Given the description of an element on the screen output the (x, y) to click on. 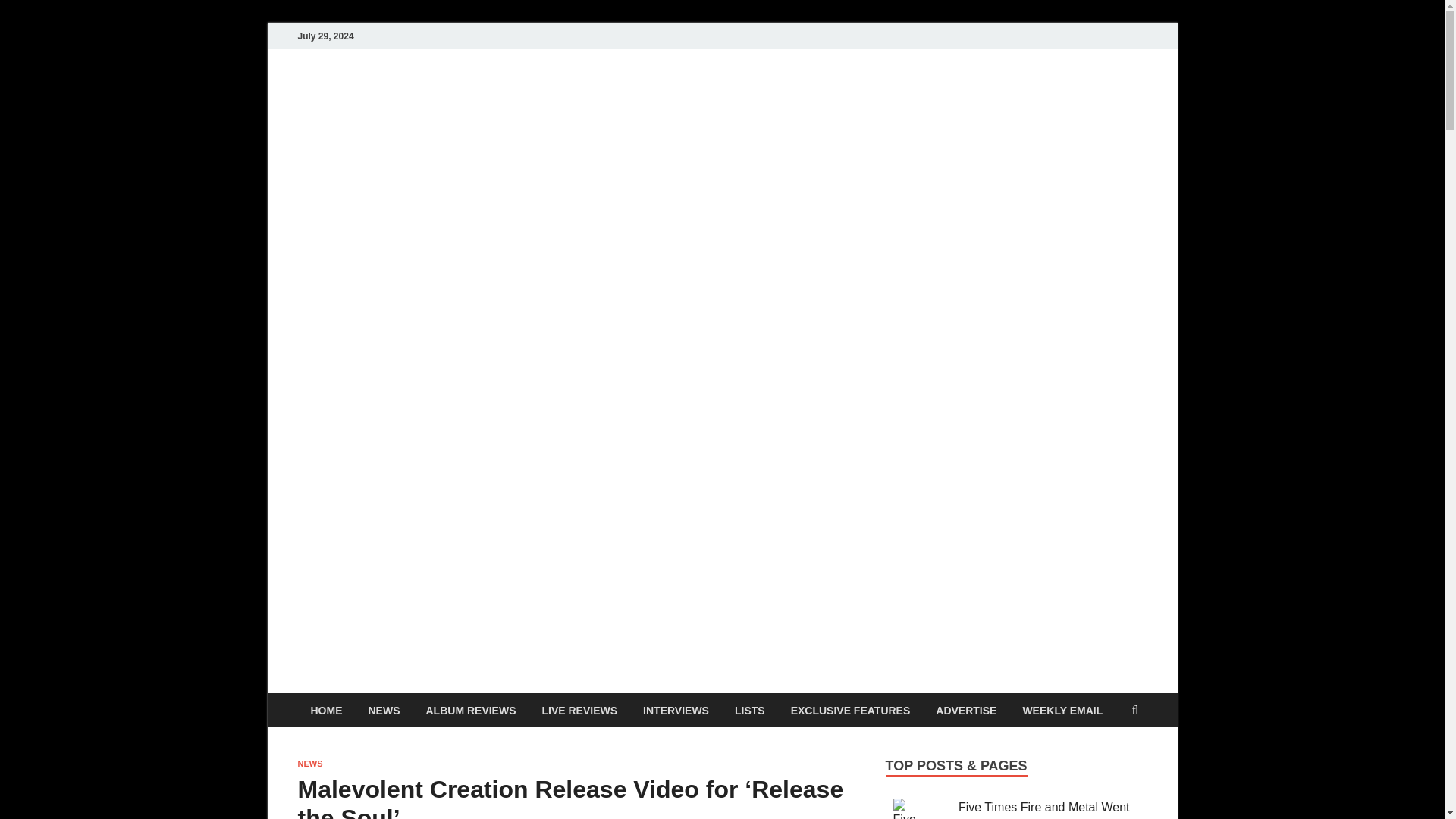
INTERVIEWS (676, 709)
EXCLUSIVE FEATURES (850, 709)
ADVERTISE (966, 709)
LISTS (749, 709)
Five Times Fire and Metal Went Wrong (1043, 809)
HOME (326, 709)
NEWS (383, 709)
LIVE REVIEWS (579, 709)
The Metal Report (1015, 100)
ALBUM REVIEWS (470, 709)
WEEKLY EMAIL (1062, 709)
Five Times Fire and Metal Went Wrong (1043, 809)
NEWS (309, 763)
